Given the description of an element on the screen output the (x, y) to click on. 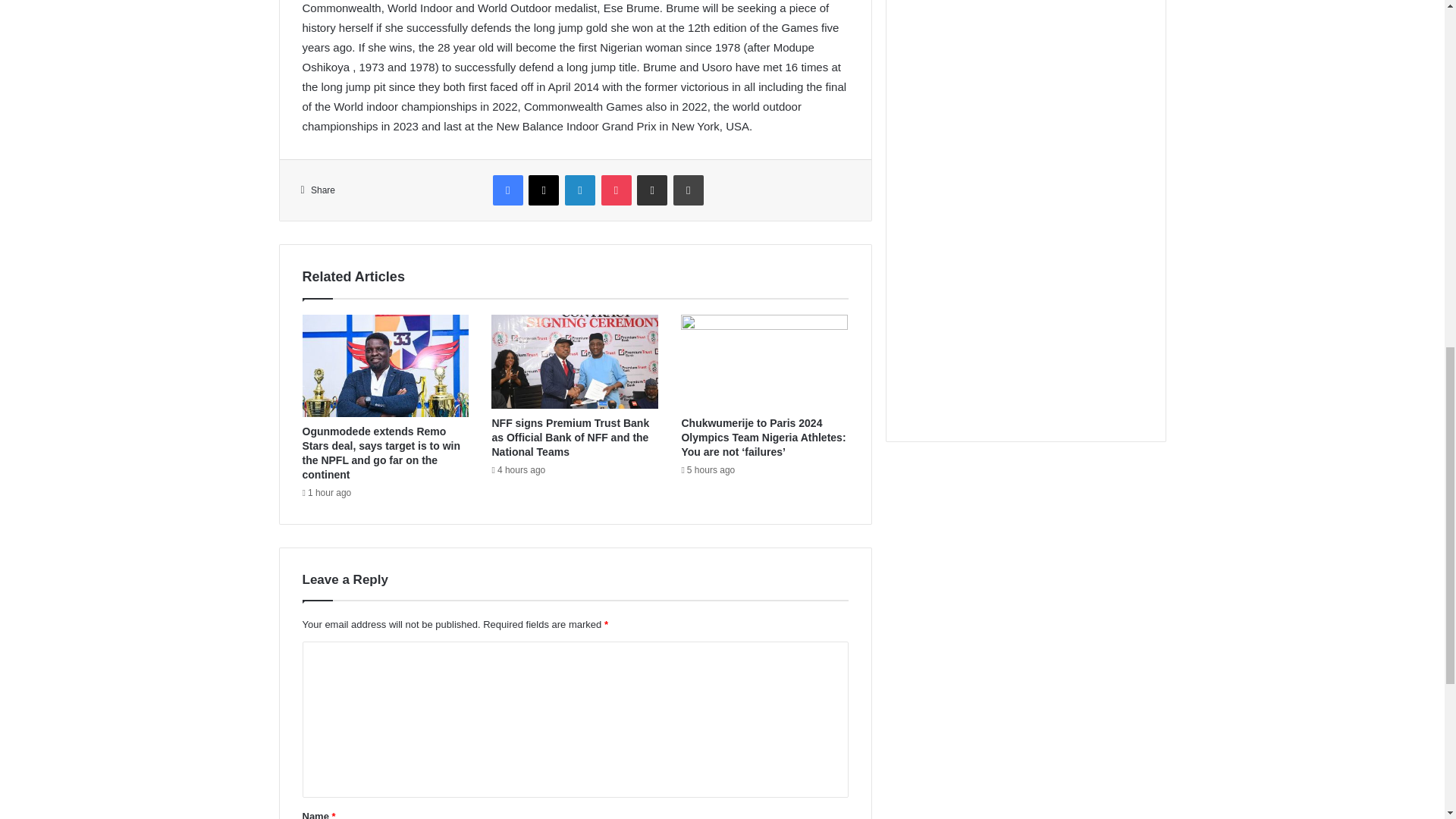
X (543, 190)
X (543, 190)
Pocket (616, 190)
LinkedIn (579, 190)
Facebook (507, 190)
Share via Email (651, 190)
Facebook (507, 190)
Print (687, 190)
